Given the description of an element on the screen output the (x, y) to click on. 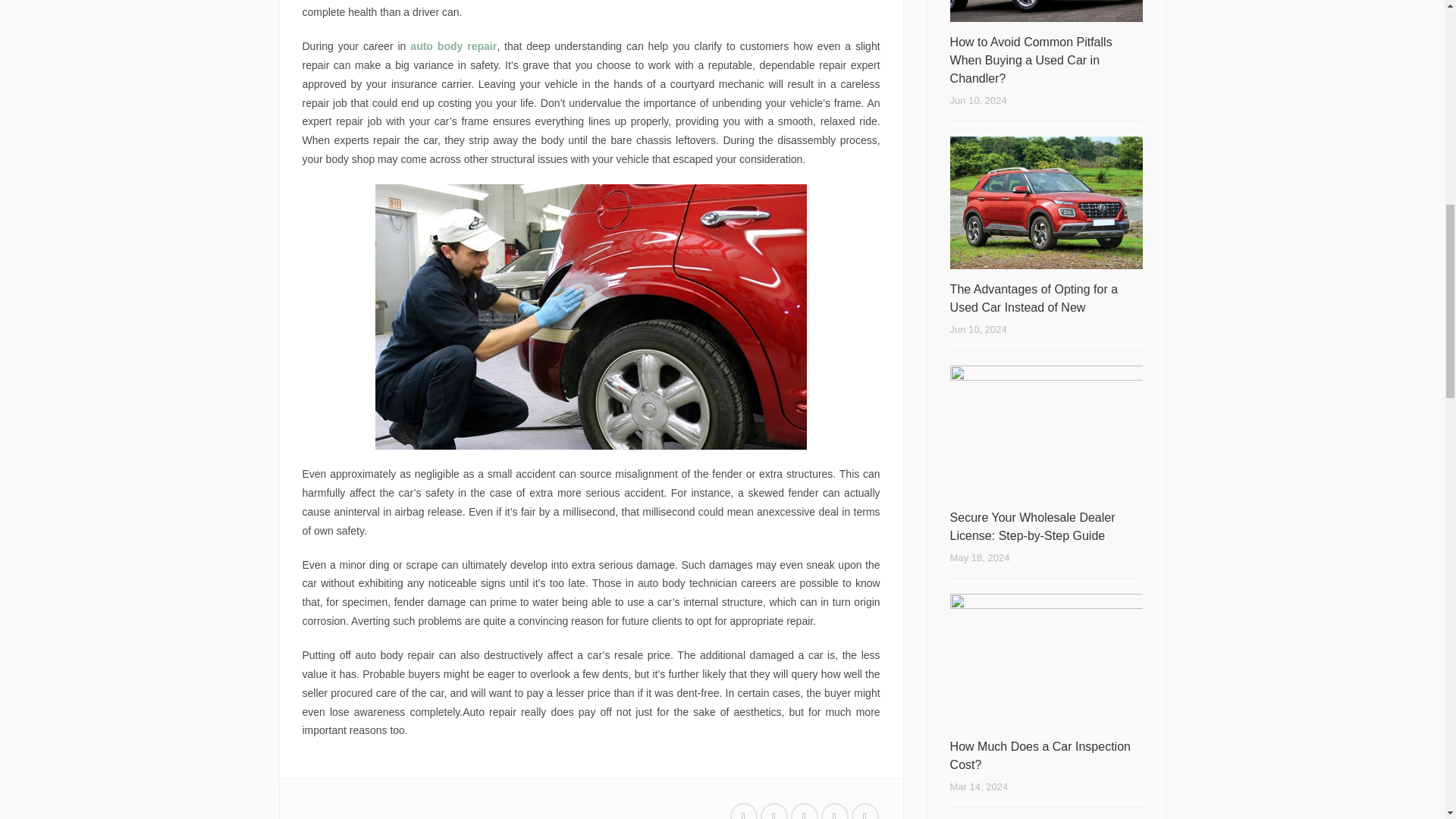
The Advantages of Opting for a Used Car Instead of New (1046, 298)
auto body repair (453, 46)
Secure Your Wholesale Dealer License: Step-by-Step Guide (1046, 526)
How Much Does a Car Inspection Cost? (1046, 755)
